Given the description of an element on the screen output the (x, y) to click on. 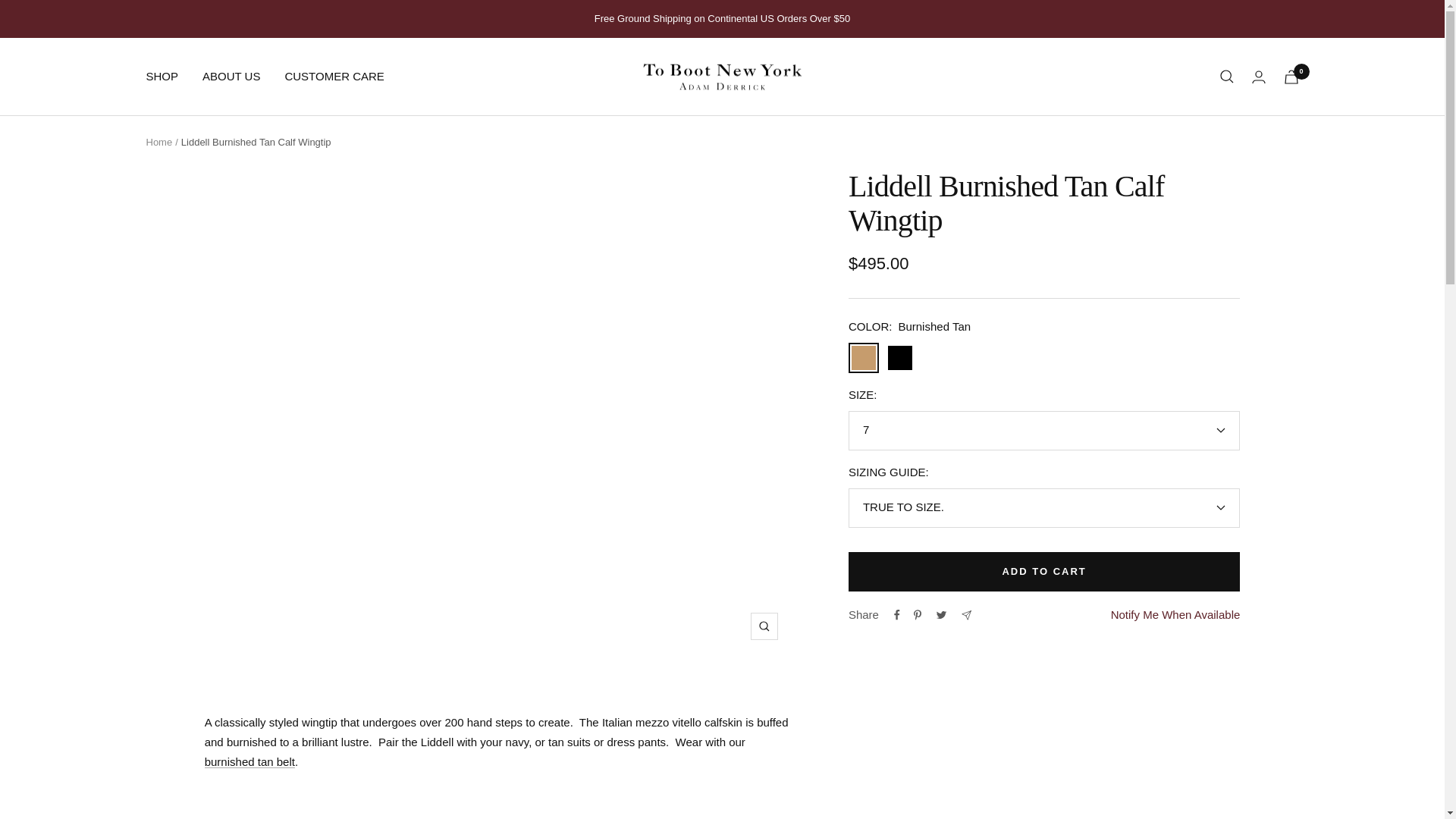
Home (158, 142)
CUSTOMER CARE (333, 76)
SHOP (161, 76)
To Boot New York (721, 76)
0 (1290, 76)
ABOUT US (231, 76)
